Given the description of an element on the screen output the (x, y) to click on. 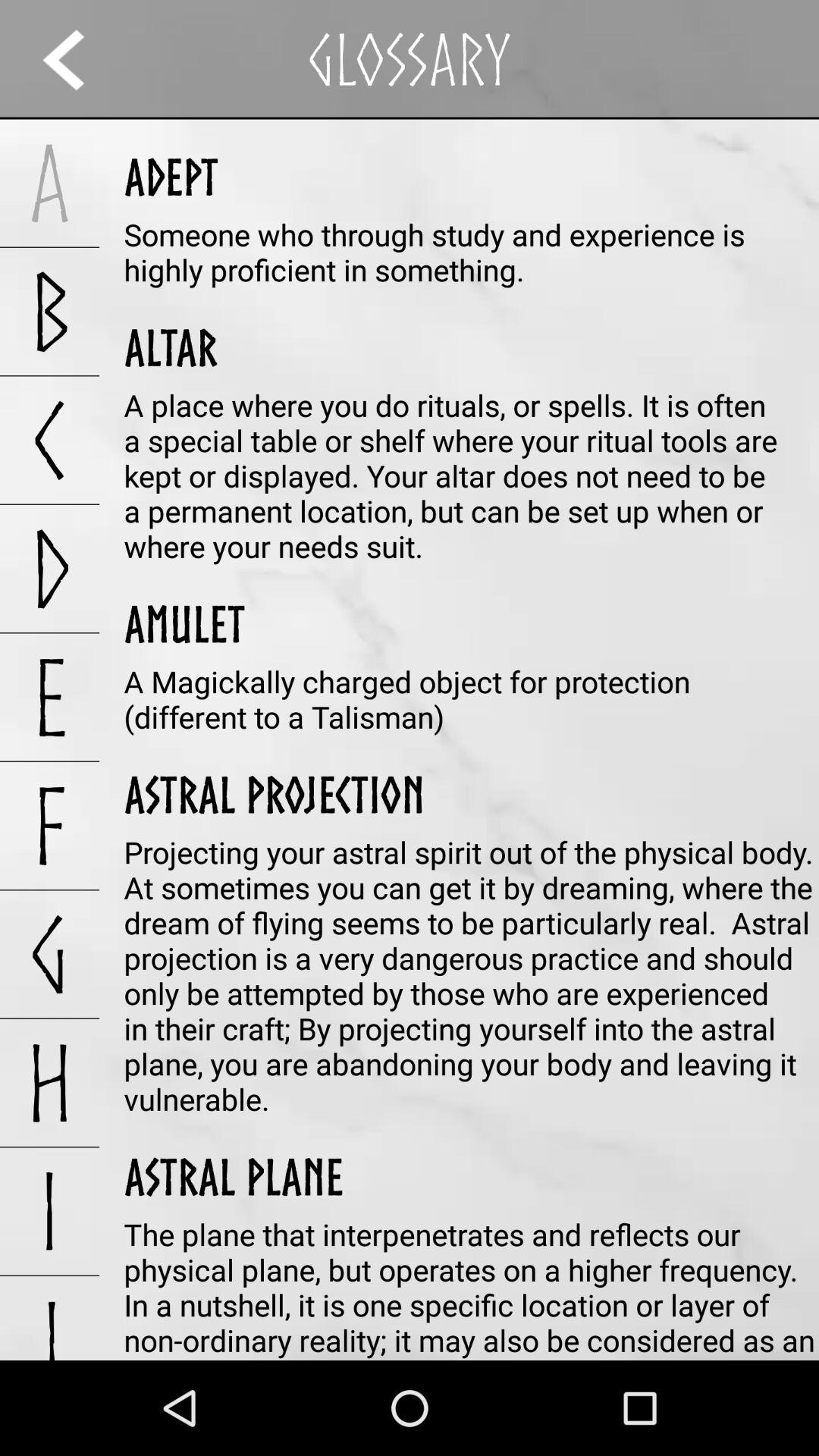
launch the app next to the e (273, 794)
